Given the description of an element on the screen output the (x, y) to click on. 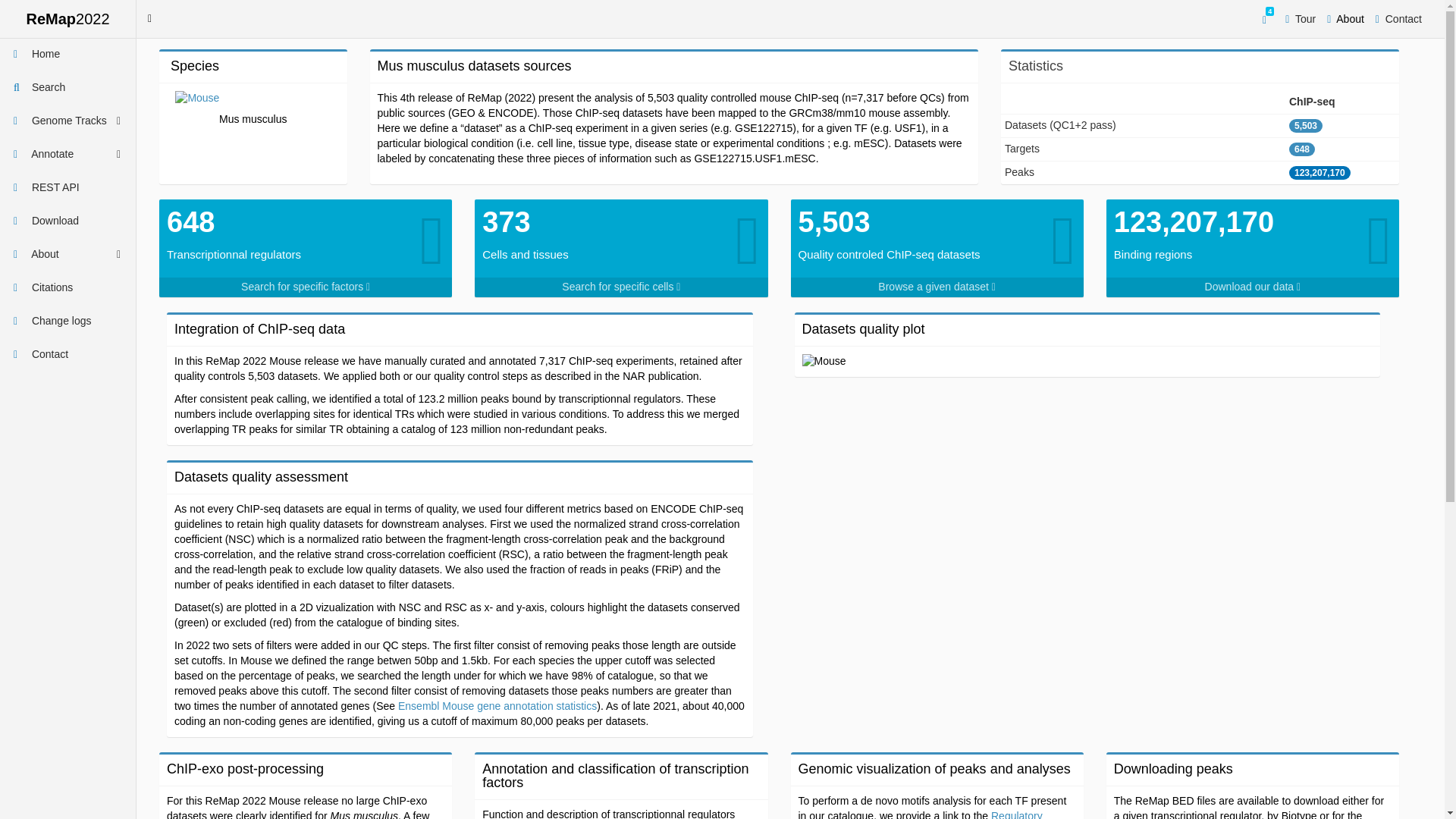
Search for specific cells (620, 287)
REST API (67, 187)
Genome Tracks (67, 121)
Mus musculus (253, 111)
Change logs (67, 321)
  About (1345, 18)
Annotate (67, 154)
Download our data (1252, 287)
Search (67, 87)
ReMap2022 (68, 18)
Browse a given dataset (936, 287)
Ensembl Mouse gene annotation statistics (496, 705)
Citations (67, 287)
Search for specific factors (304, 287)
Home (67, 54)
